Given the description of an element on the screen output the (x, y) to click on. 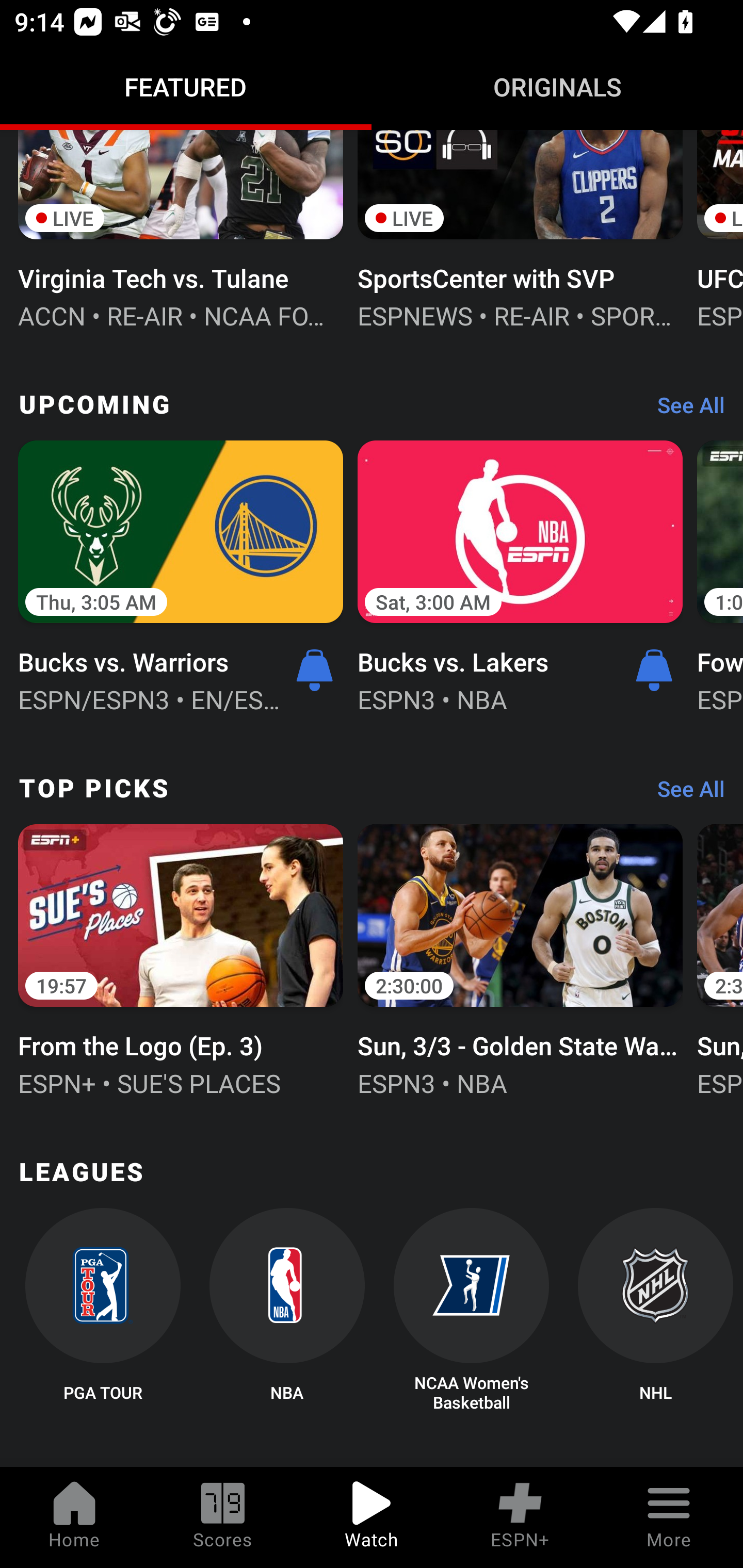
Originals ORIGINALS (557, 86)
See All (683, 409)
See All (683, 792)
19:57 From the Logo (Ep. 3) ESPN+ • SUE'S PLACES (180, 958)
PGA TOUR (102, 1310)
NBA (286, 1310)
NCAA Women's Basketball (471, 1310)
NHL (655, 1310)
Home (74, 1517)
Scores (222, 1517)
ESPN+ (519, 1517)
More (668, 1517)
